Given the description of an element on the screen output the (x, y) to click on. 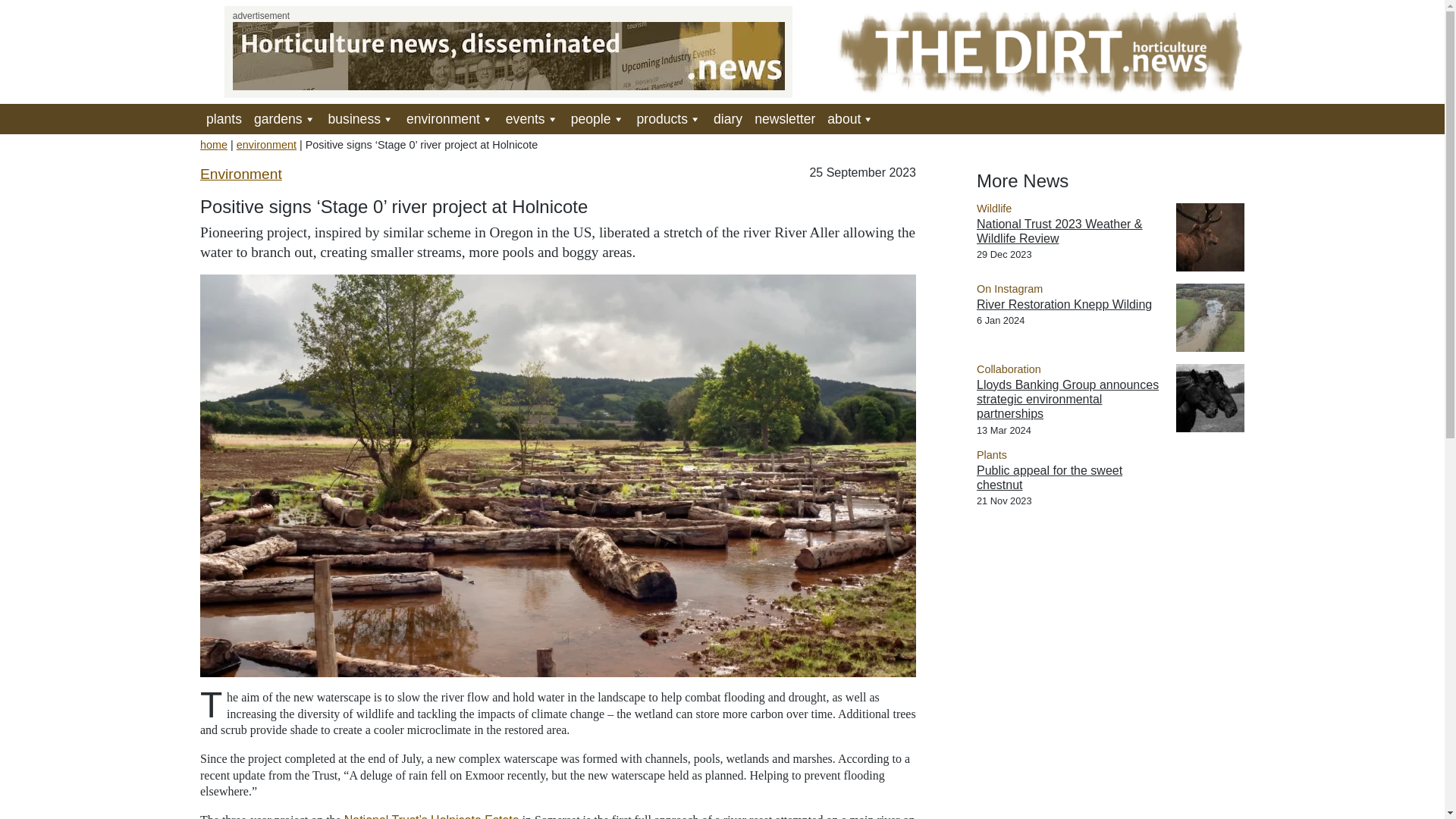
products (668, 119)
gardens (284, 119)
environment (449, 119)
business (360, 119)
diary (727, 119)
events (531, 119)
newsletter (784, 119)
Environment (241, 173)
plants (223, 119)
home (213, 144)
